Given the description of an element on the screen output the (x, y) to click on. 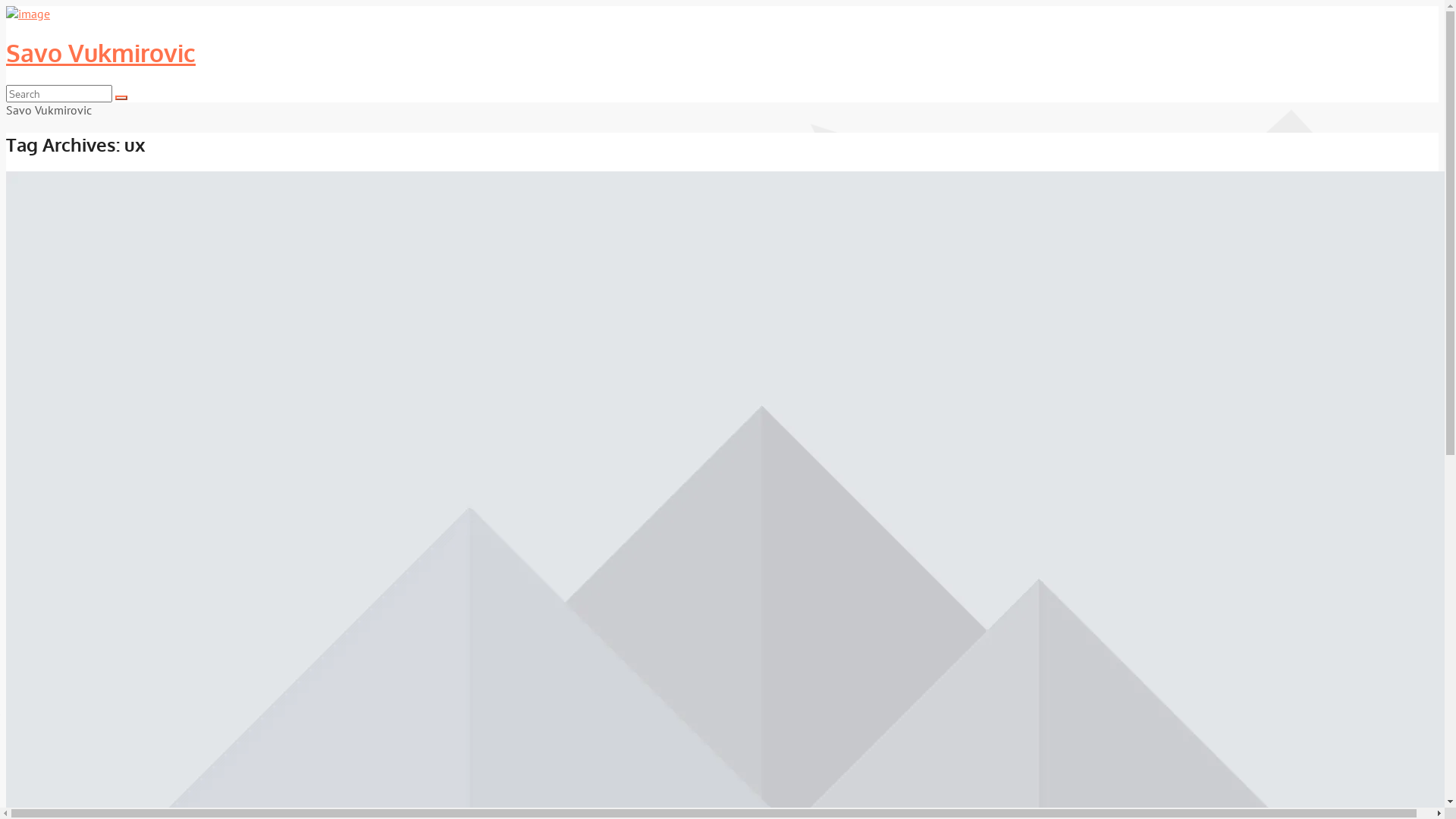
Savo Vukmirovic Element type: text (722, 52)
Search Element type: hover (121, 97)
